Given the description of an element on the screen output the (x, y) to click on. 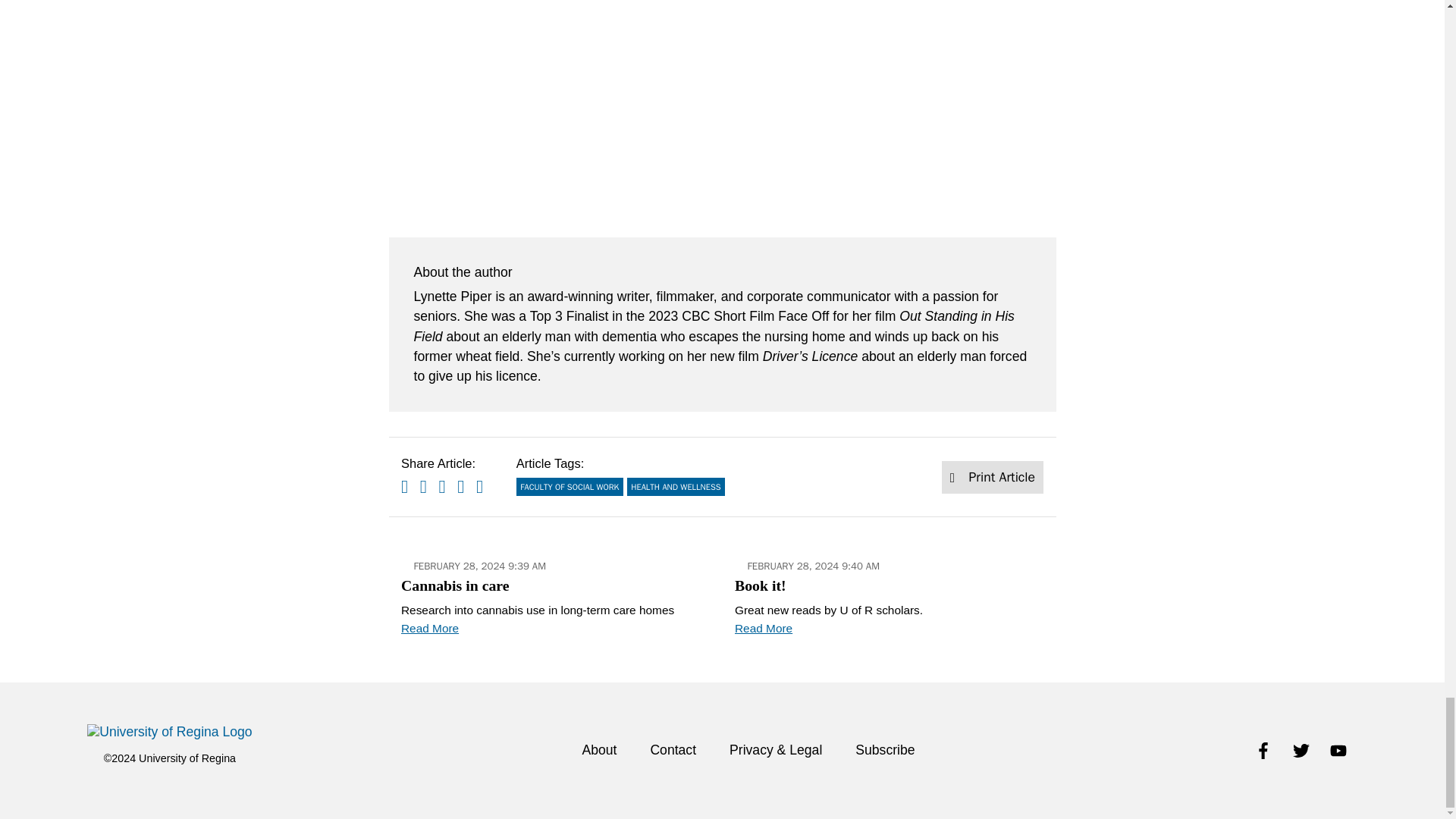
FACULTY OF SOCIAL WORK (569, 486)
Book it! (888, 595)
Cannabis in care (555, 595)
